Given the description of an element on the screen output the (x, y) to click on. 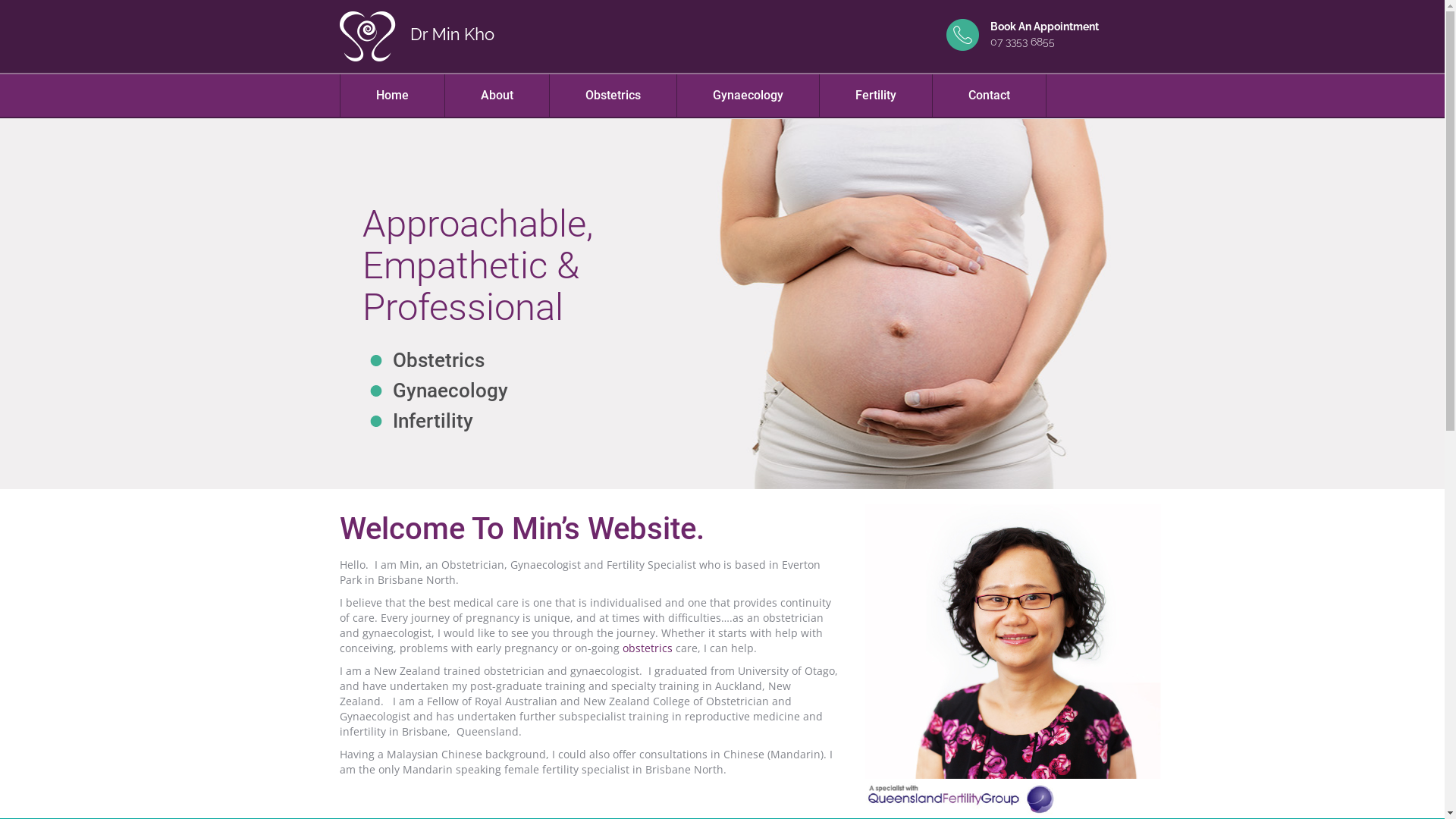
Fertility Element type: text (875, 95)
About Element type: text (496, 95)
obstetrics Element type: text (646, 647)
Gynaecology Element type: text (747, 95)
Home Element type: text (391, 95)
Obstetrics Element type: text (612, 95)
07 3353 6855 Element type: text (1025, 41)
Contact Element type: text (988, 95)
Book An Appointment Element type: text (1044, 26)
